Given the description of an element on the screen output the (x, y) to click on. 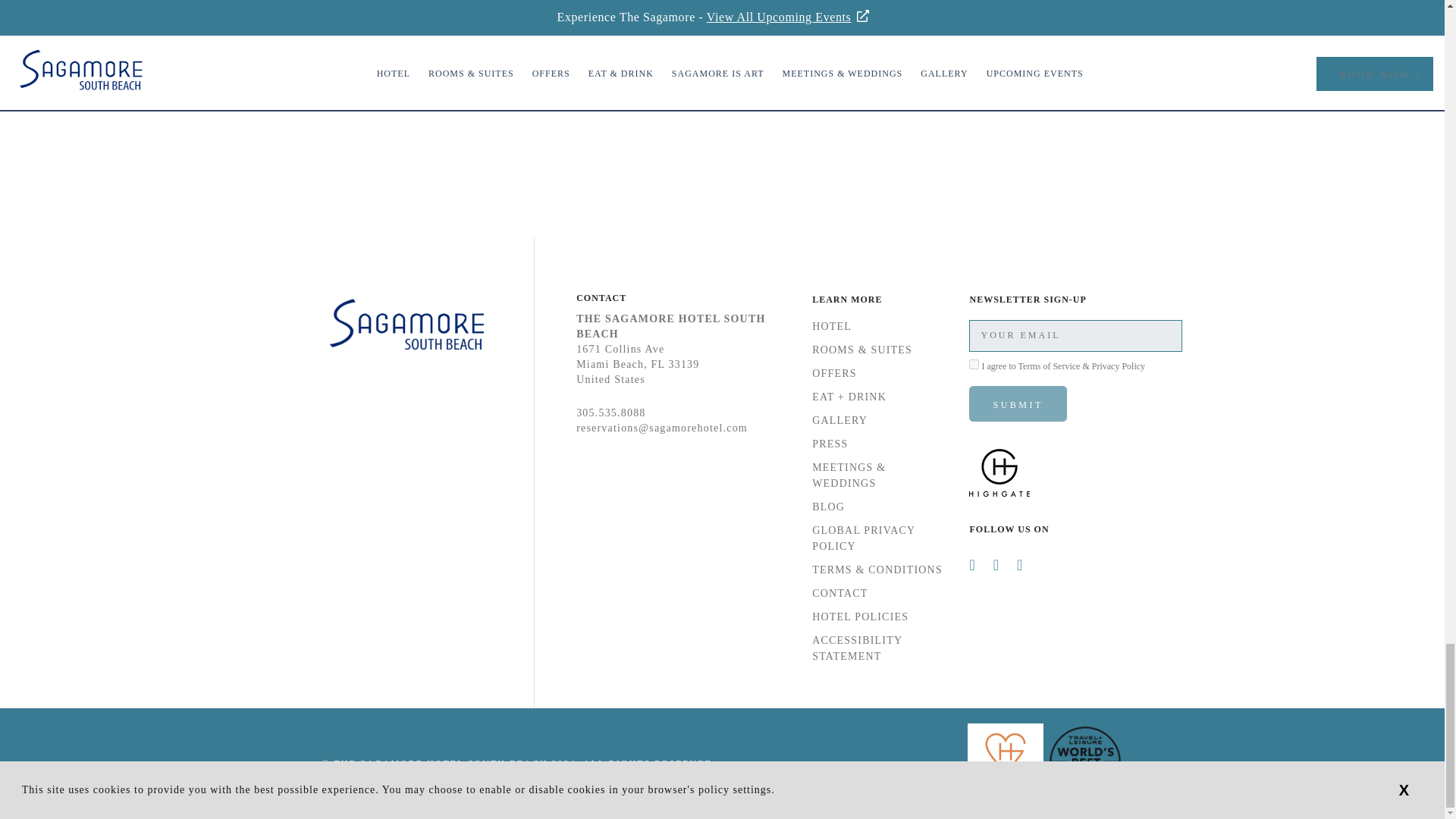
Highgate Charities Foundation (1007, 796)
Yes (973, 364)
Agree to Terms of Service and Privacy Policy (973, 364)
OUR INSTAGRAM (722, 39)
